Given the description of an element on the screen output the (x, y) to click on. 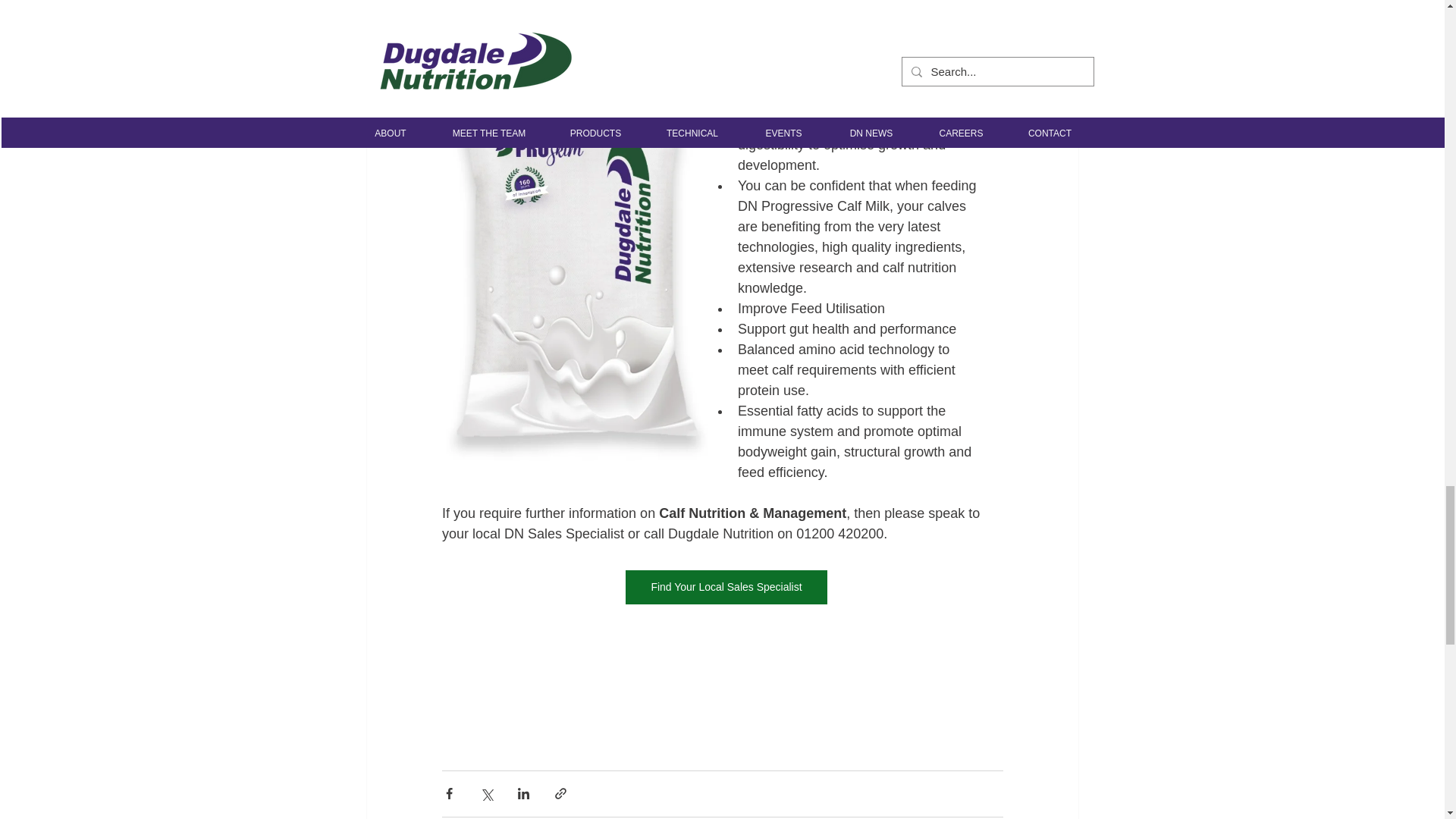
Find Your Local Sales Specialist (725, 587)
